Given the description of an element on the screen output the (x, y) to click on. 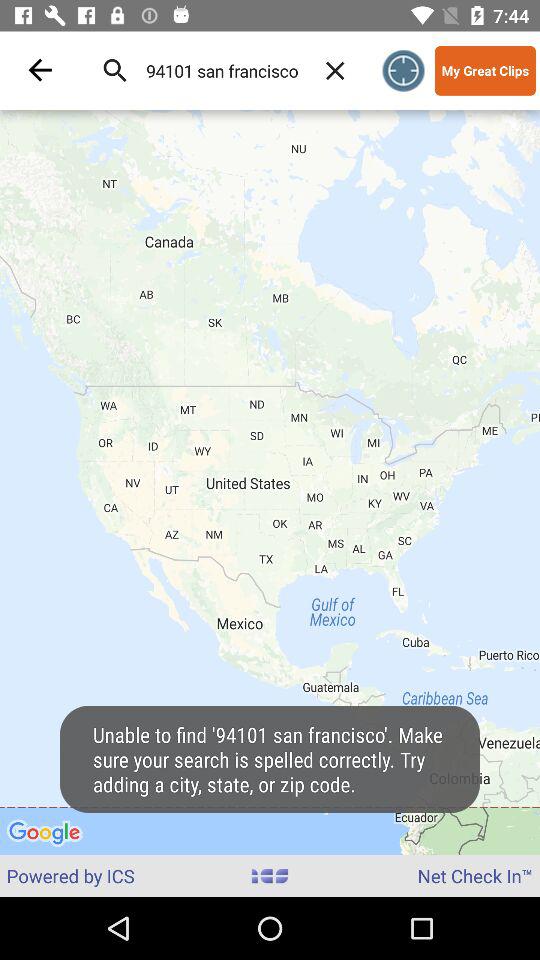
tap the icon next to my great clips icon (403, 70)
